Given the description of an element on the screen output the (x, y) to click on. 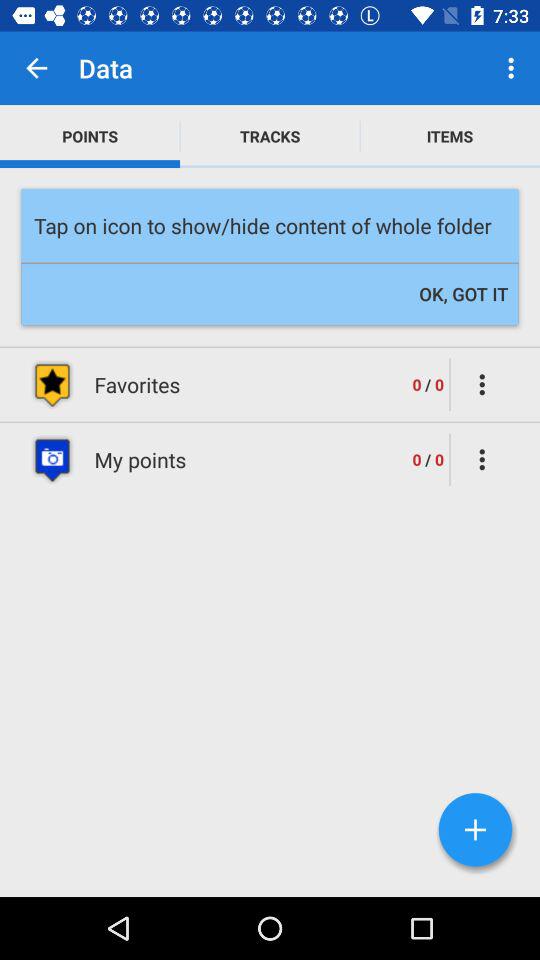
press icon to the left of the data (36, 68)
